Given the description of an element on the screen output the (x, y) to click on. 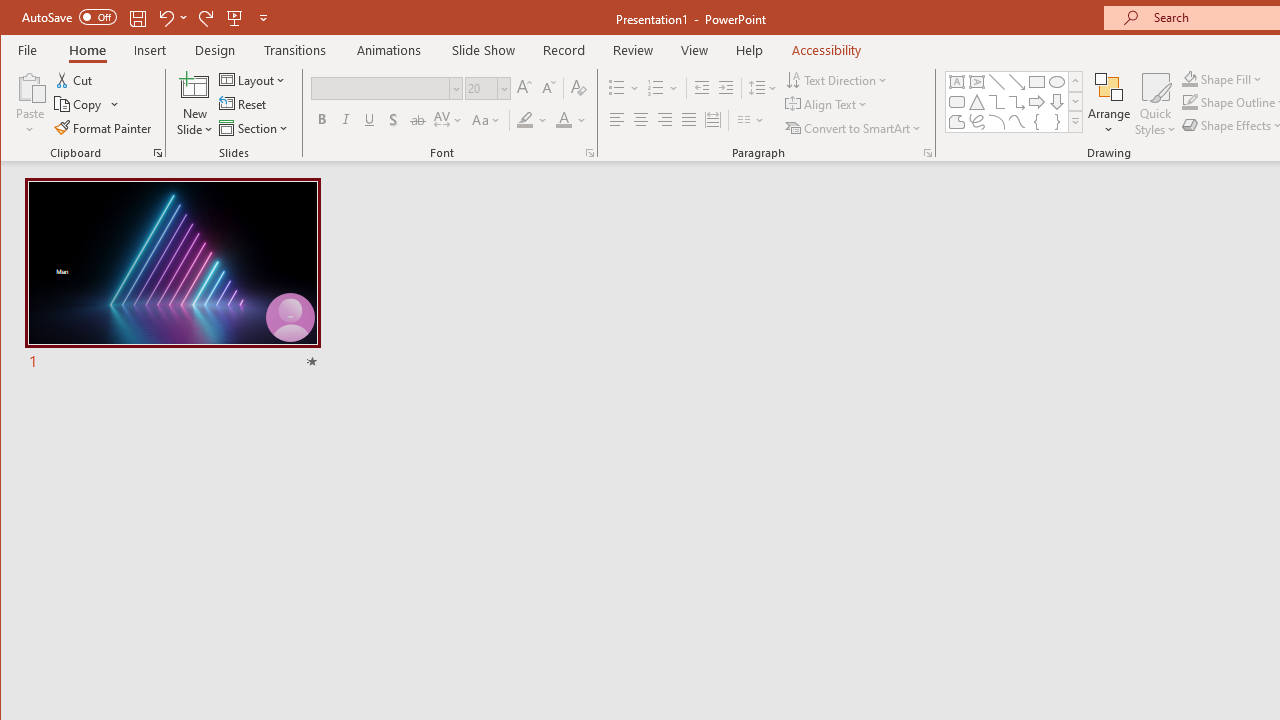
Freeform: Scribble (976, 121)
Clear Formatting (579, 88)
Office Clipboard... (157, 152)
Justify (689, 119)
Italic (346, 119)
Shadow (393, 119)
Decrease Indent (701, 88)
Strikethrough (417, 119)
Shapes (1074, 121)
Line Arrow (1016, 82)
Rectangle: Rounded Corners (956, 102)
